Given the description of an element on the screen output the (x, y) to click on. 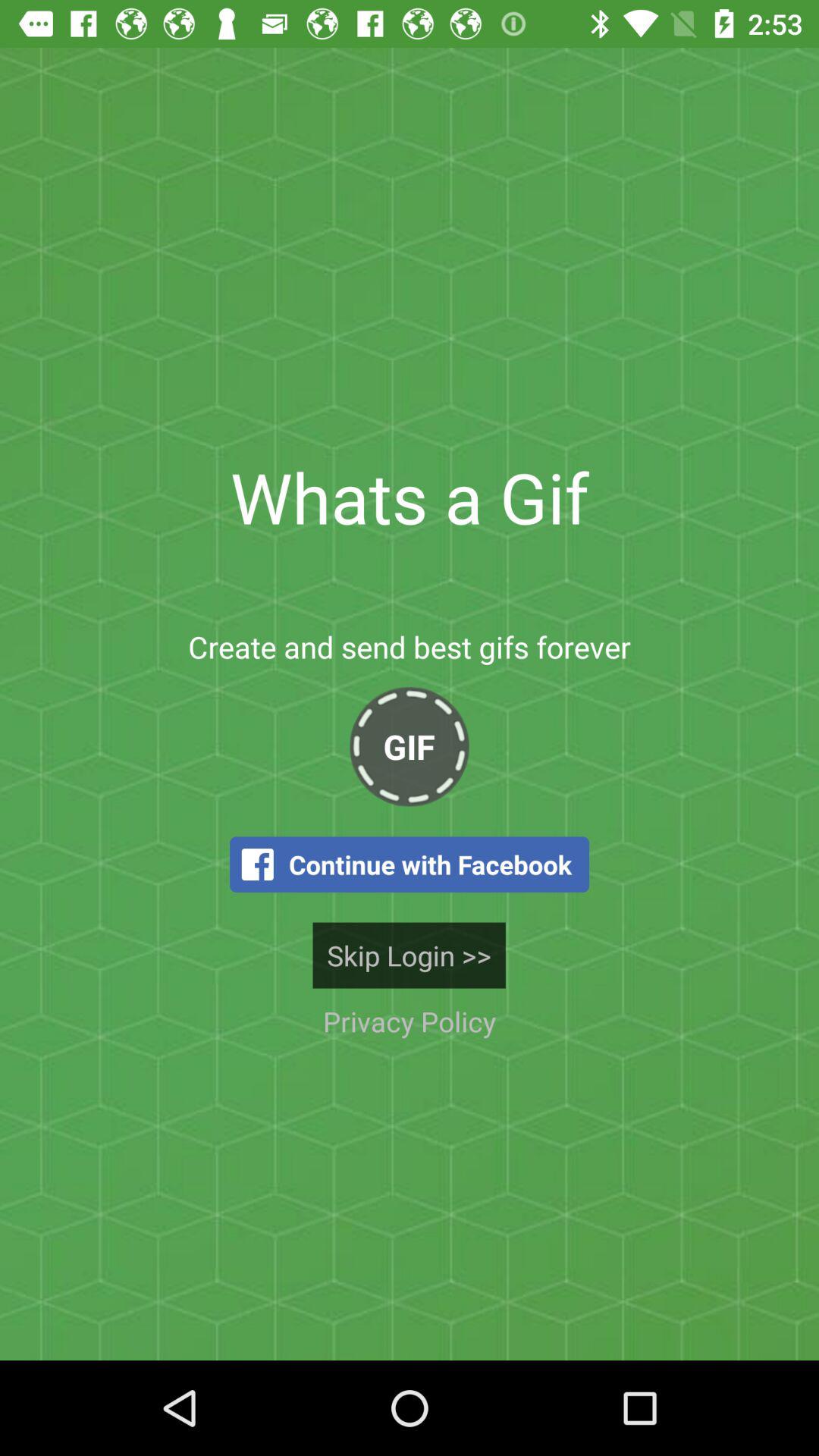
open continue with facebook (409, 864)
